Given the description of an element on the screen output the (x, y) to click on. 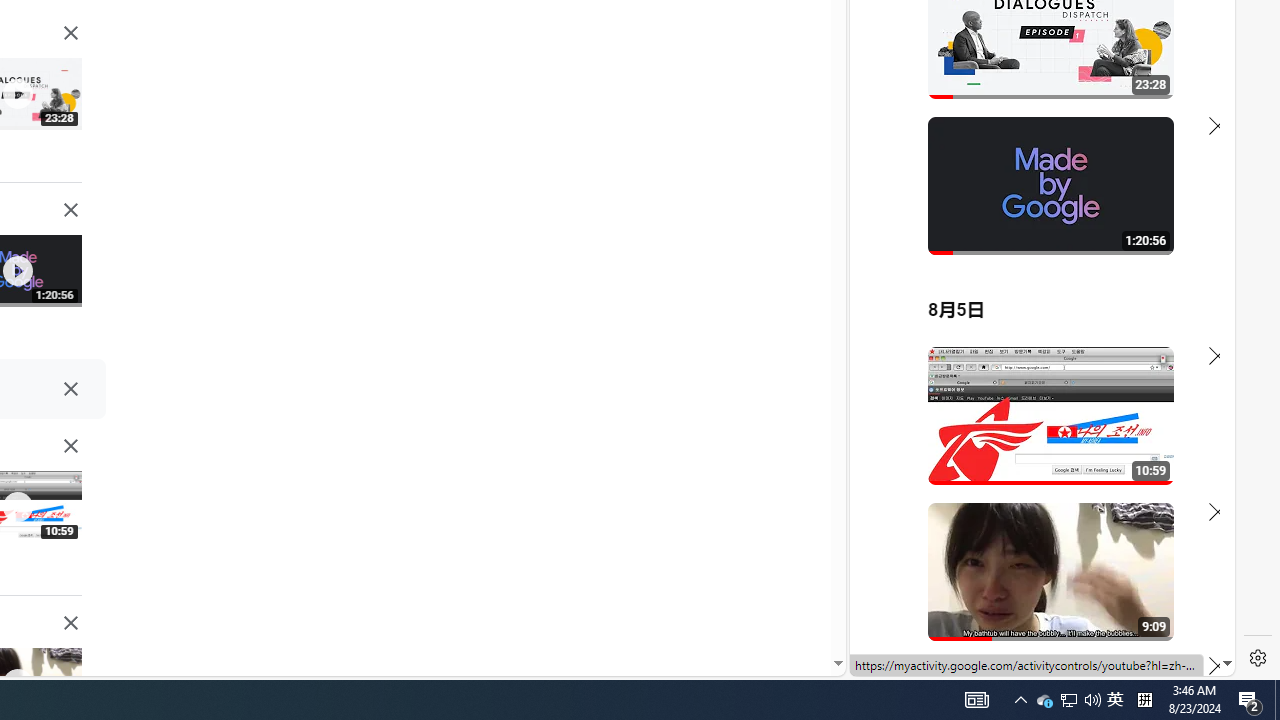
YouTube - YouTube (1034, 266)
Class: DI7Mnf NMm5M (70, 389)
#you (1034, 439)
you (1034, 609)
Actions for this site (1131, 443)
US[ju] (917, 660)
Class: dict_pnIcon rms_img (1028, 660)
